Given the description of an element on the screen output the (x, y) to click on. 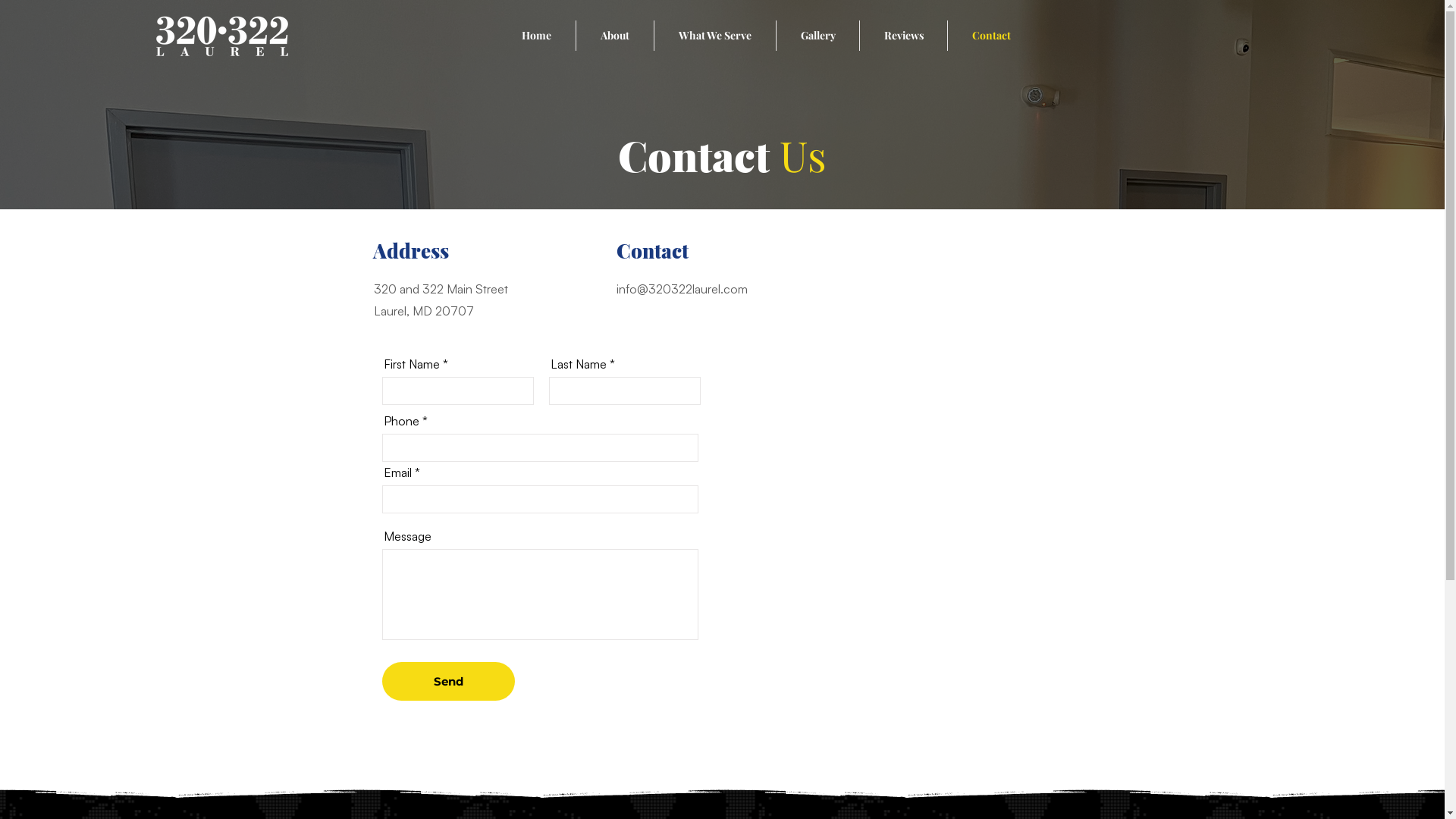
Home Element type: text (536, 35)
About Element type: text (614, 35)
Google Maps Element type: hover (915, 509)
Contact Element type: text (990, 35)
What We Serve Element type: text (714, 35)
Reviews Element type: text (903, 35)
info@320322laurel.com Element type: text (680, 288)
Send Element type: text (448, 681)
Gallery Element type: text (817, 35)
